Given the description of an element on the screen output the (x, y) to click on. 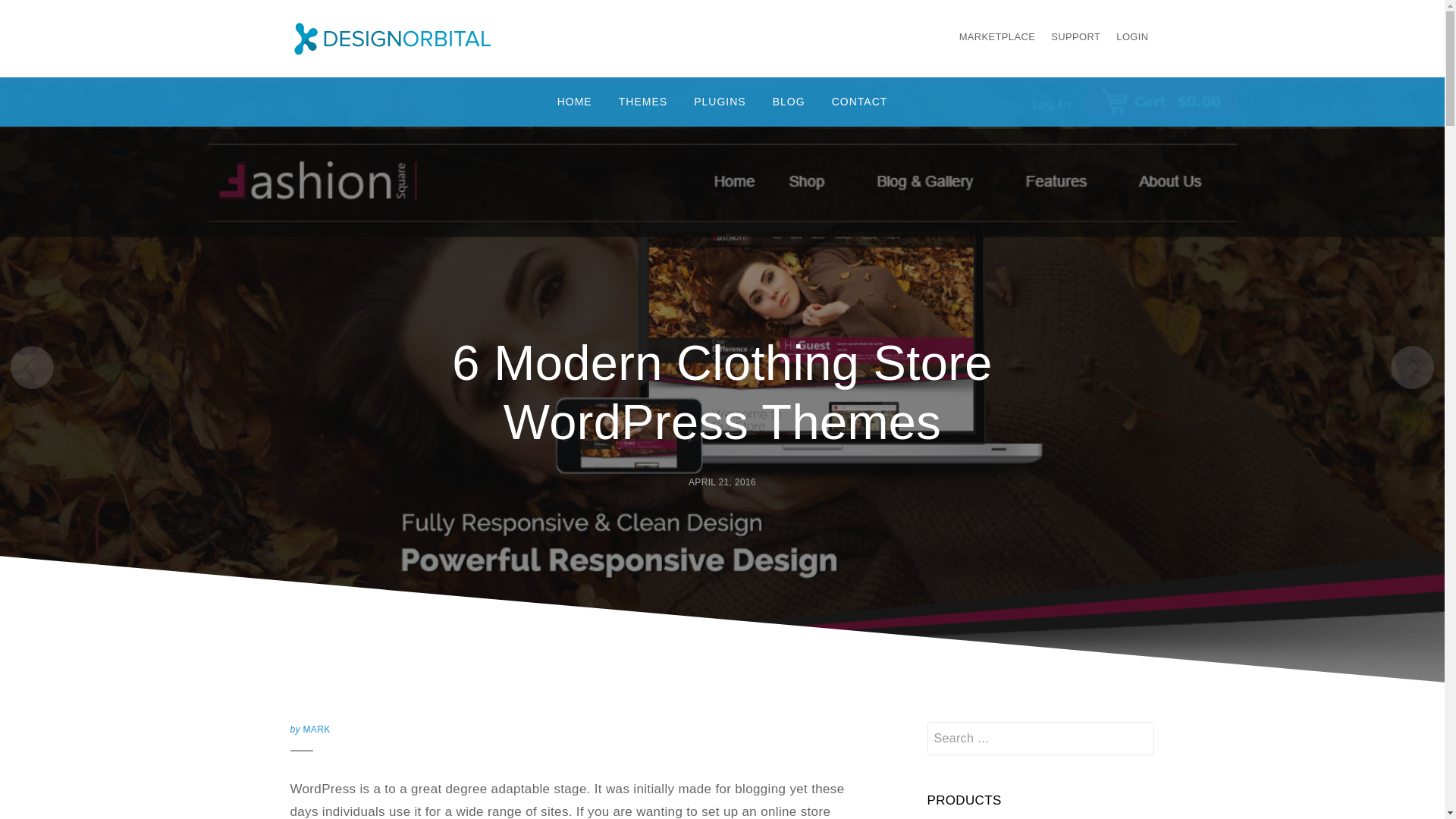
CONTACT (860, 101)
MARKETPLACE (997, 36)
MARK (316, 728)
APRIL 21, 2016 (721, 481)
BLOG (788, 101)
DesignOrbital (408, 67)
SUPPORT (1075, 36)
PLUGINS (719, 101)
DESIGNORBITAL (408, 67)
